Given the description of an element on the screen output the (x, y) to click on. 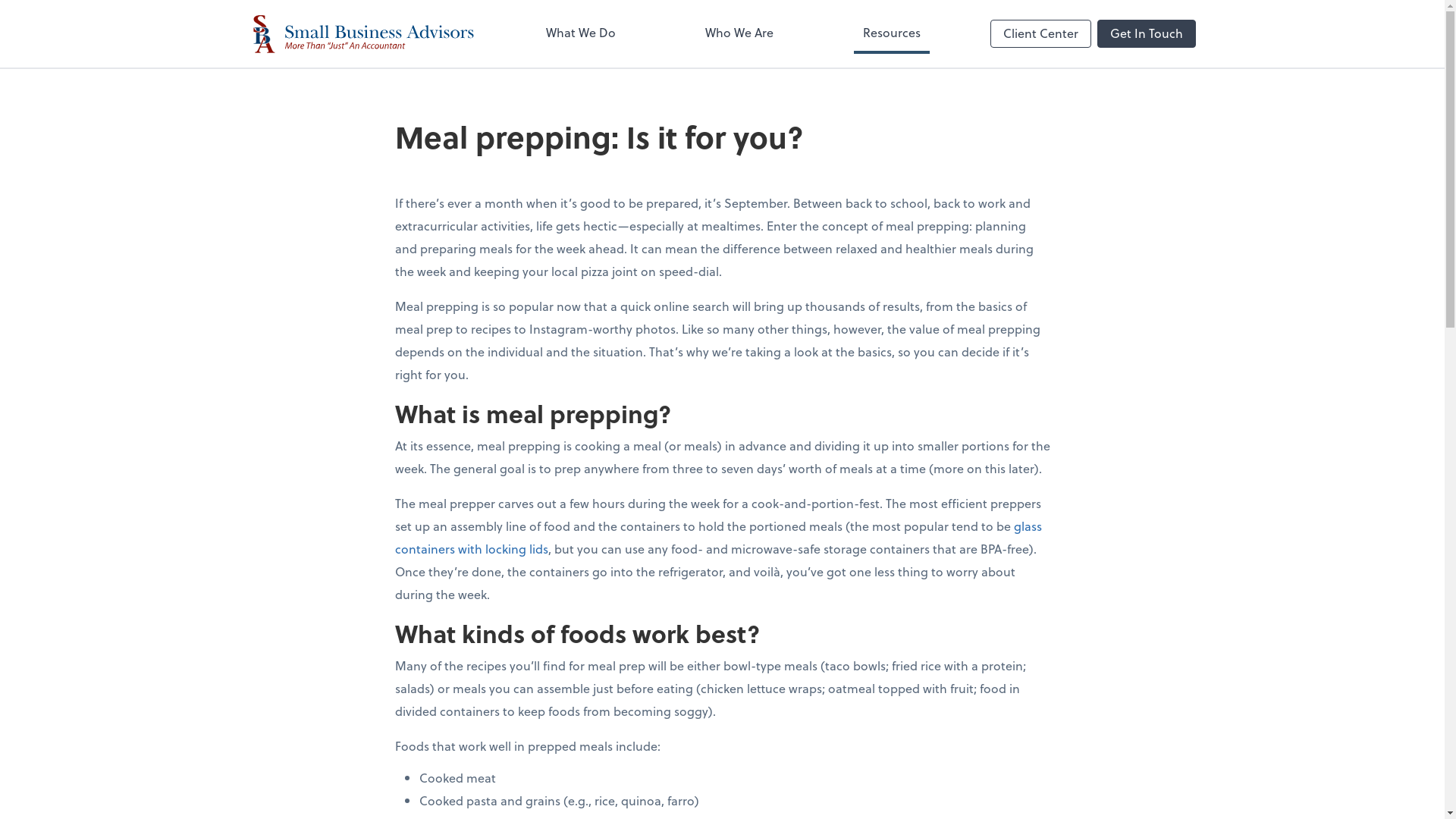
Client Center Element type: text (1040, 33)
glass containers with locking lids Element type: text (717, 537)
Who We Are Element type: text (739, 33)
Get In Touch Element type: text (1145, 33)
What We Do Element type: text (580, 33)
Resources Element type: text (891, 33)
